Given the description of an element on the screen output the (x, y) to click on. 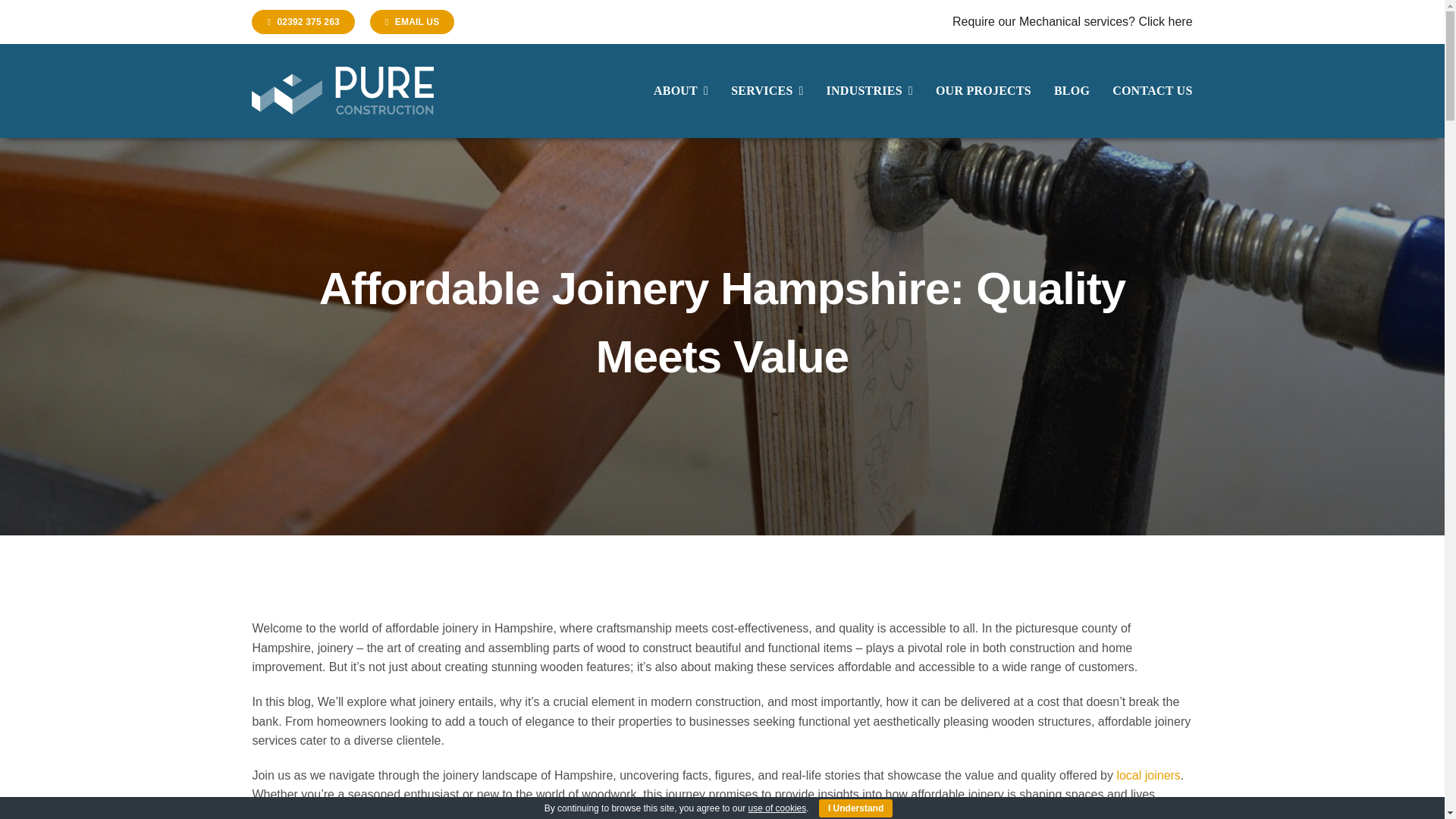
CONTACT US (1152, 90)
Require our Mechanical services? Click here (1072, 21)
02392 375 263 (302, 21)
INDUSTRIES (869, 90)
local joiners (1147, 775)
OUR PROJECTS (983, 90)
EMAIL US (411, 21)
SERVICES (766, 90)
ABOUT (680, 90)
